Given the description of an element on the screen output the (x, y) to click on. 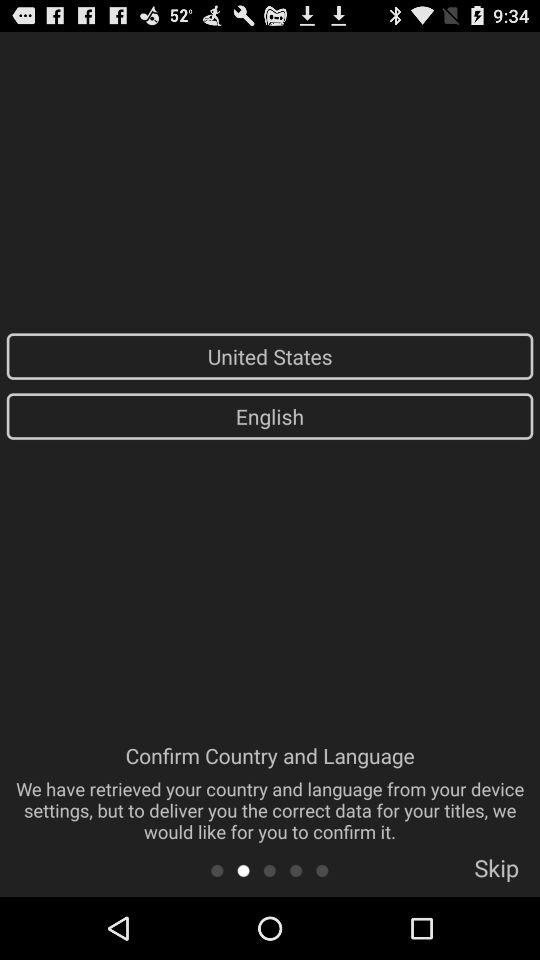
go to page four (295, 870)
